Given the description of an element on the screen output the (x, y) to click on. 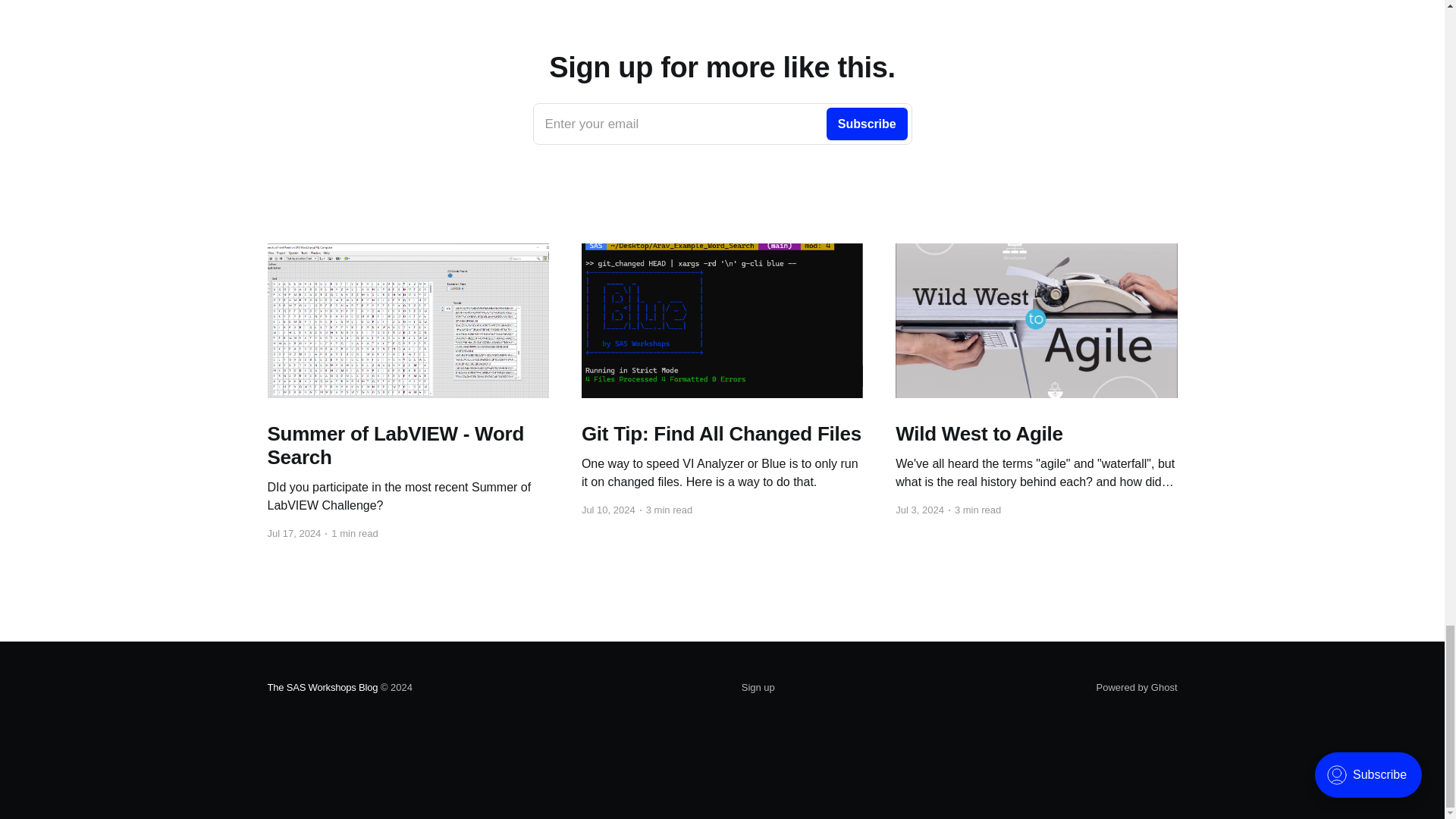
Powered by Ghost (721, 123)
Sign up (1136, 686)
Summer of LabVIEW - Word Search (757, 687)
Git Tip: Find All Changed Files (407, 445)
Wild West to Agile (721, 433)
The SAS Workshops Blog (1035, 433)
